Given the description of an element on the screen output the (x, y) to click on. 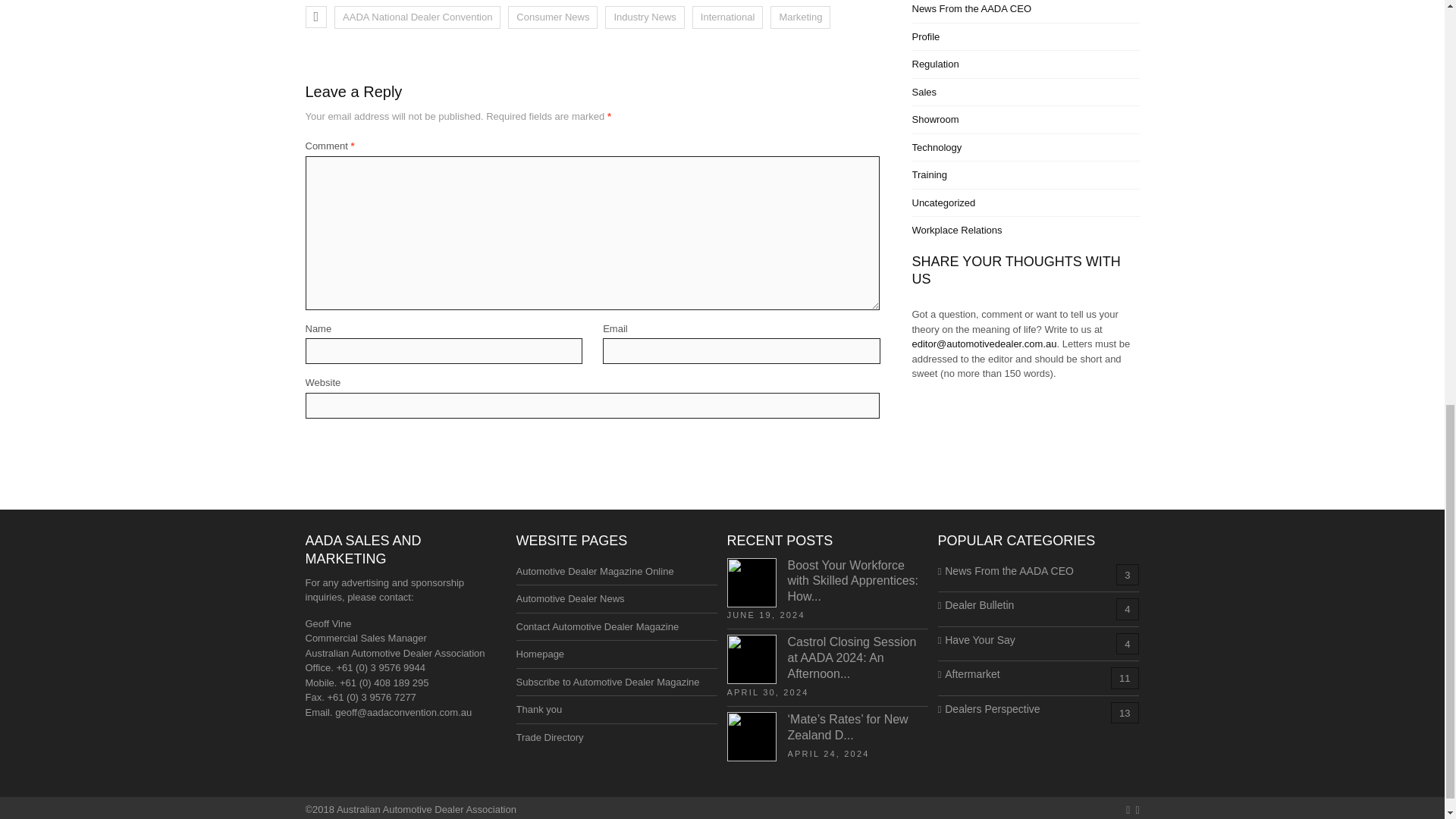
Sales (923, 91)
Regulation (934, 63)
Uncategorized (943, 202)
International (727, 16)
Training (928, 174)
Industry News (644, 16)
Consumer News (552, 16)
Profile (925, 36)
News From the AADA CEO (970, 8)
AADA National Dealer Convention (417, 16)
